Given the description of an element on the screen output the (x, y) to click on. 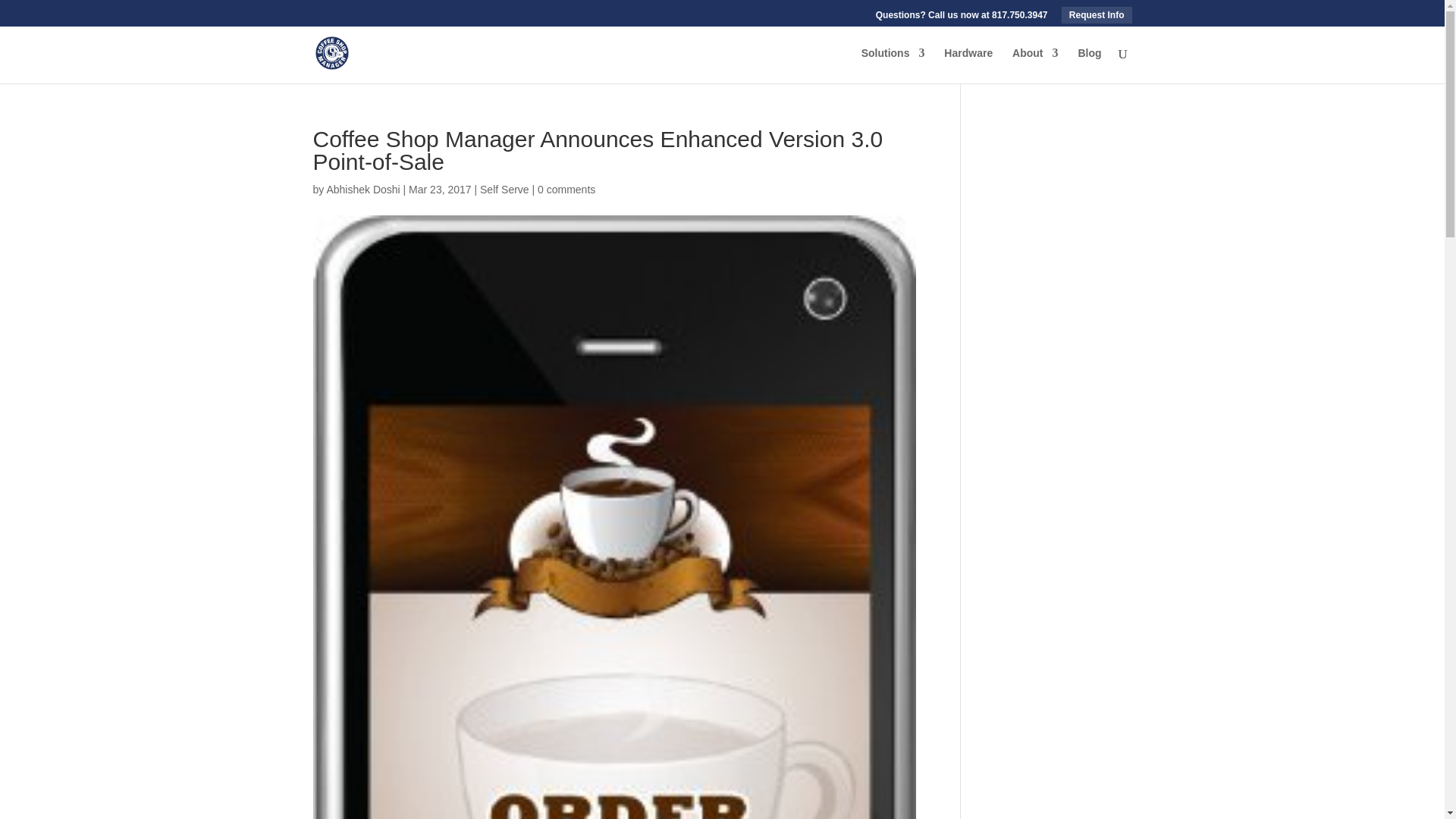
Request Info (1096, 14)
Hardware (967, 65)
Posts by Abhishek Doshi (362, 189)
Questions? Call us now at 817.750.3947 (962, 18)
0 comments (566, 189)
Abhishek Doshi (362, 189)
About (1034, 65)
Self Serve (504, 189)
Solutions (892, 65)
